Given the description of an element on the screen output the (x, y) to click on. 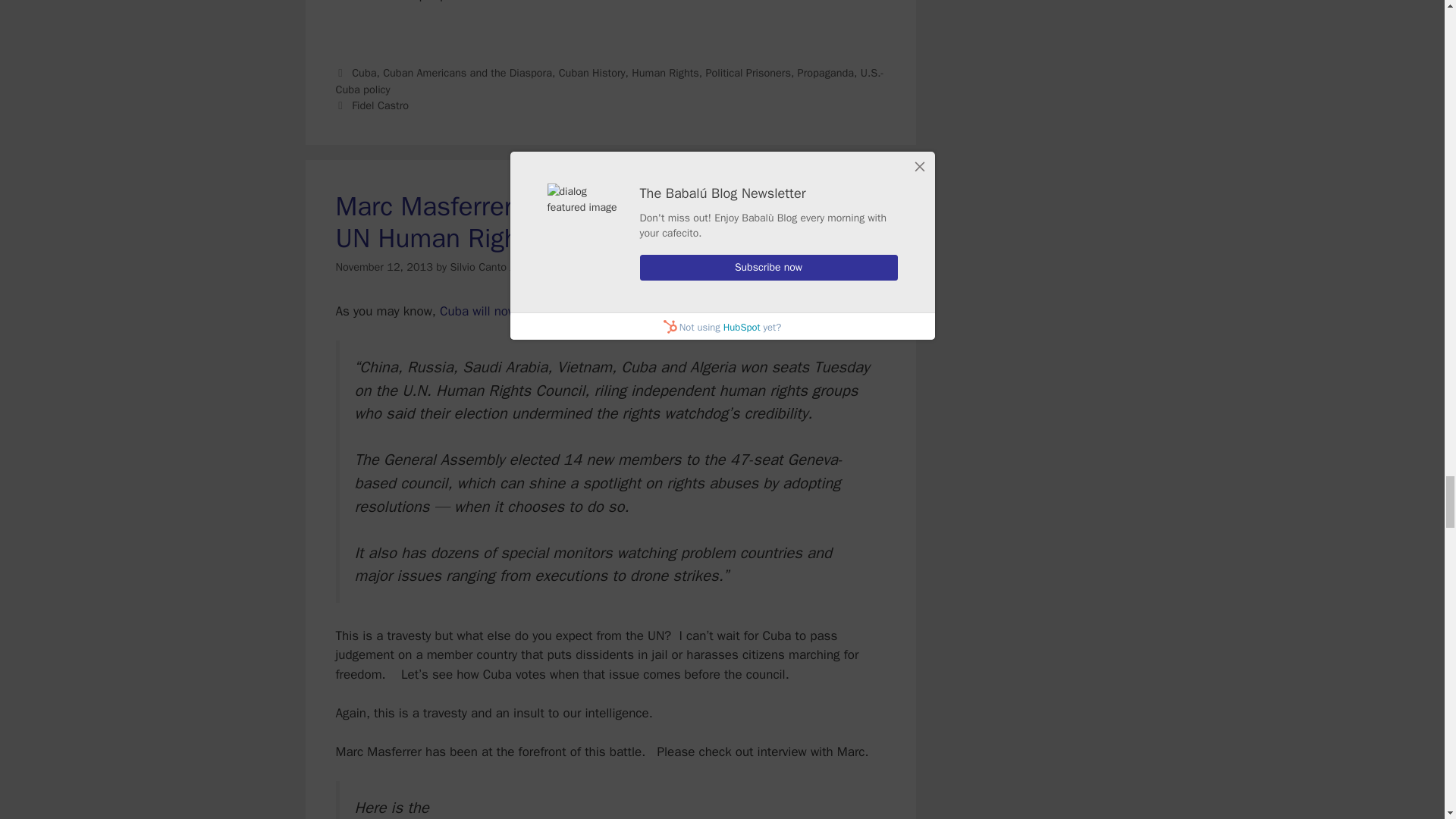
View all posts by Silvio Canto Jr. (485, 266)
